Given the description of an element on the screen output the (x, y) to click on. 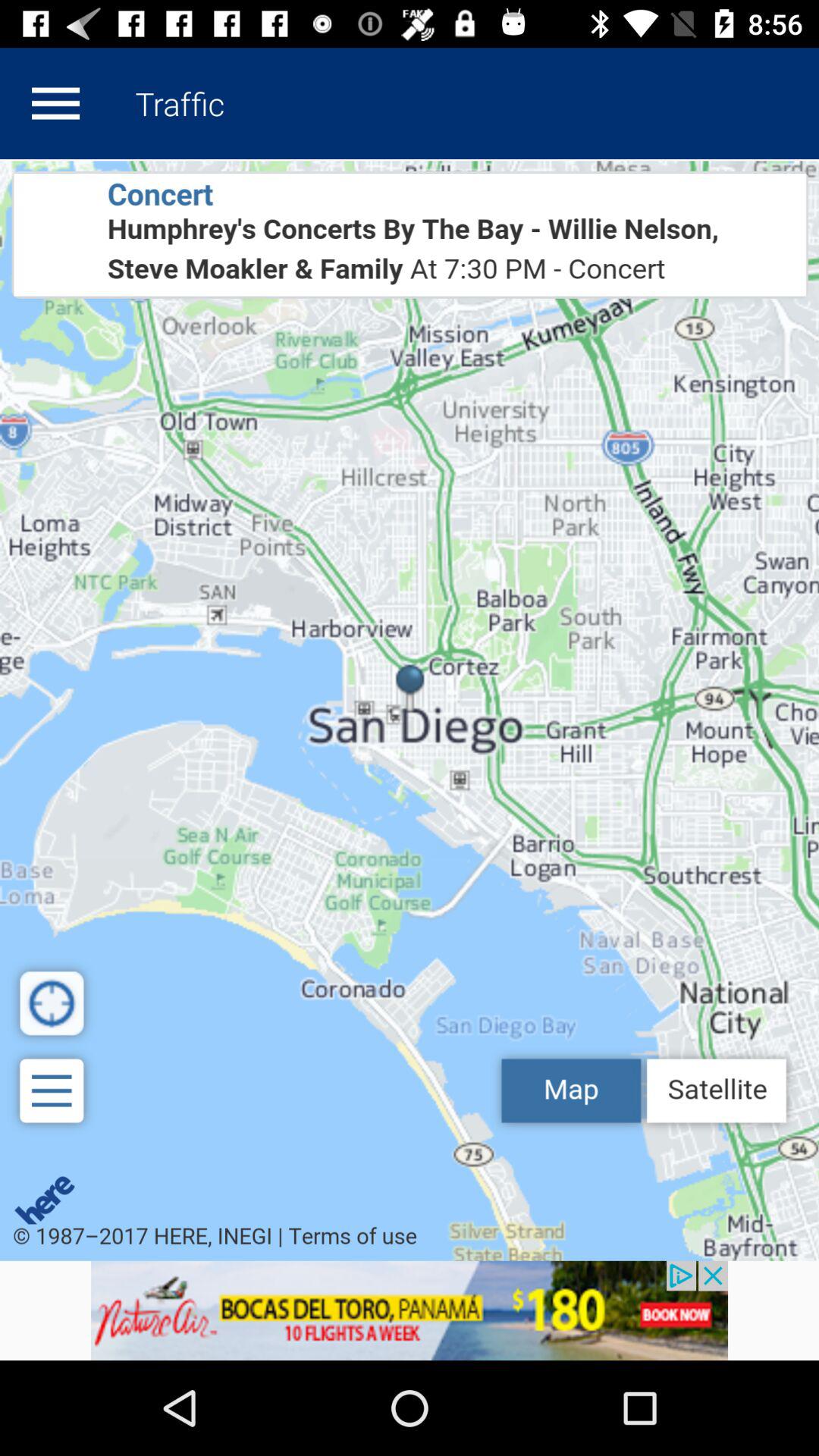
open options list (55, 103)
